Given the description of an element on the screen output the (x, y) to click on. 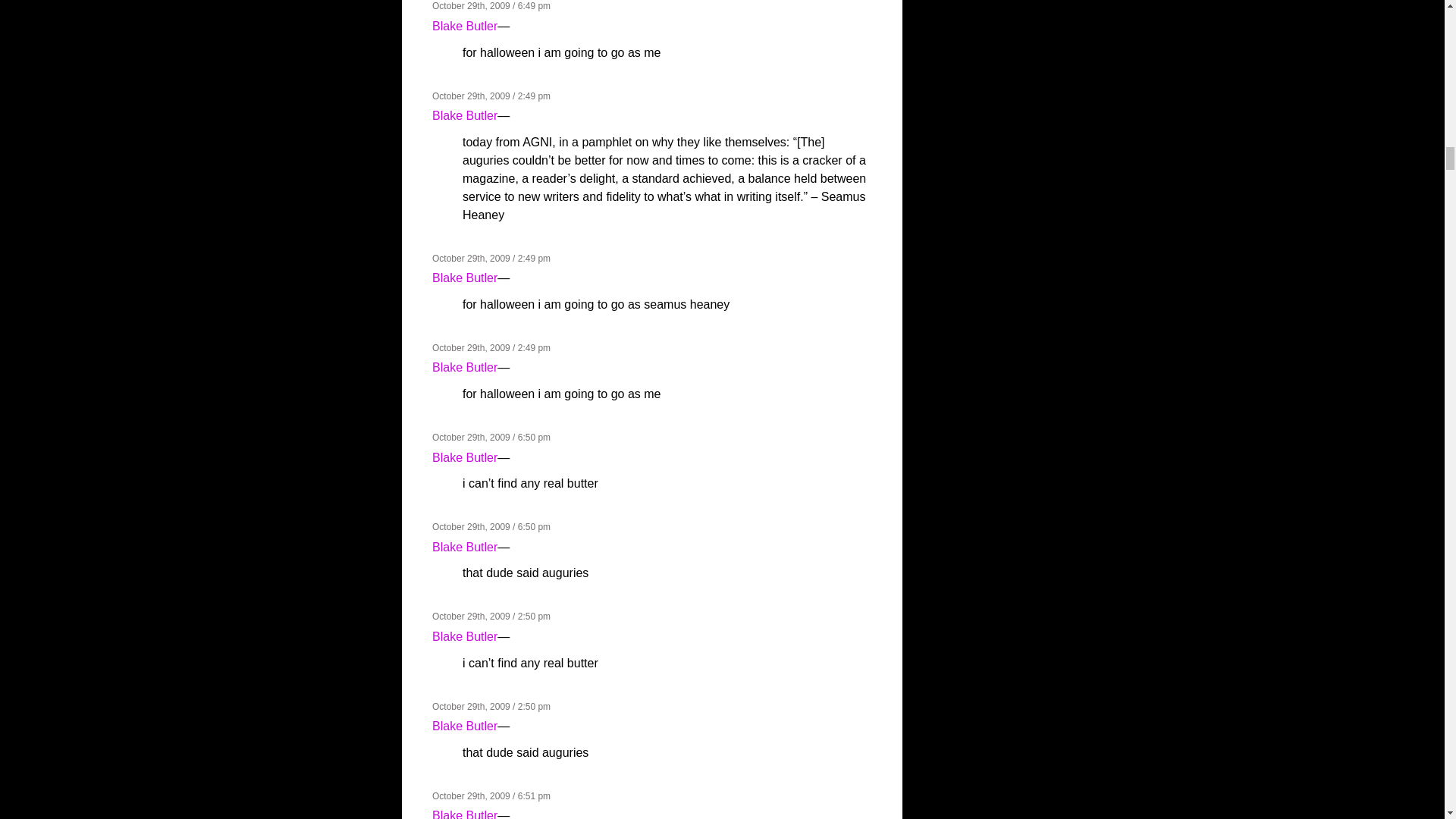
Blake Butler (464, 457)
Blake Butler (464, 115)
Blake Butler (464, 635)
Blake Butler (464, 277)
Blake Butler (464, 814)
Blake Butler (464, 25)
Blake Butler (464, 367)
Blake Butler (464, 546)
Blake Butler (464, 725)
